Given the description of an element on the screen output the (x, y) to click on. 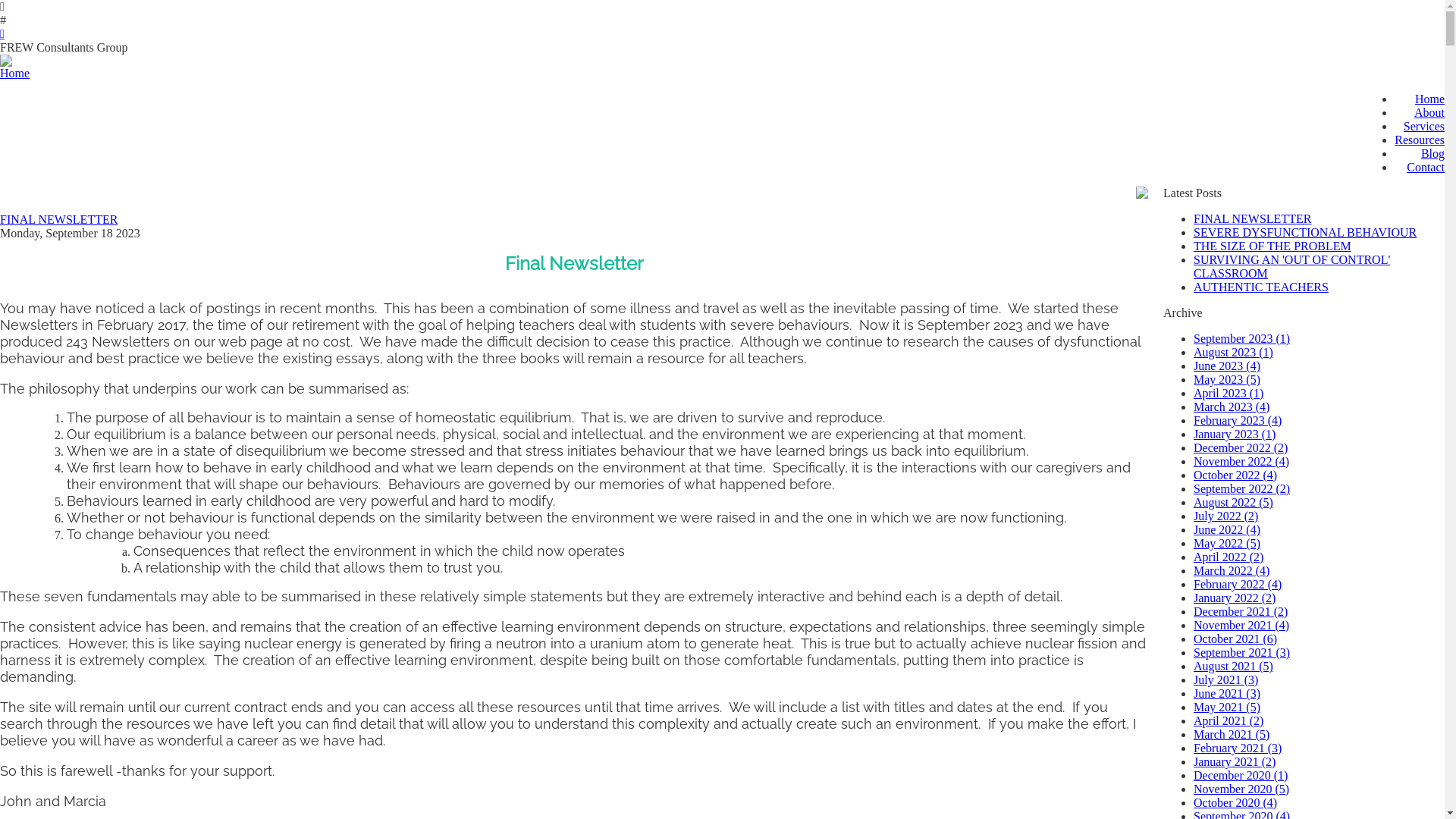
FINAL NEWSLETTER Element type: text (58, 219)
October 2021 (6) Element type: text (1235, 638)
AUTHENTIC TEACHERS Element type: text (1260, 286)
July 2021 (3) Element type: text (1225, 679)
FREW Consultants Group         Element type: text (722, 47)
March 2021 (5) Element type: text (1231, 734)
Contact Element type: text (1425, 166)
August 2022 (5) Element type: text (1233, 501)
SURVIVING AN 'OUT OF CONTROL' CLASSROOM Element type: text (1291, 266)
May 2023 (5) Element type: text (1226, 379)
January 2023 (1) Element type: text (1234, 433)
September 2022 (2) Element type: text (1241, 488)
November 2020 (5) Element type: text (1241, 788)
January 2022 (2) Element type: text (1234, 597)
August 2021 (5) Element type: text (1233, 665)
May 2021 (5) Element type: text (1226, 706)
October 2022 (4) Element type: text (1235, 474)
January 2021 (2) Element type: text (1234, 761)
Services Element type: text (1423, 125)
February 2022 (4) Element type: text (1237, 583)
About Element type: text (1429, 112)
December 2021 (2) Element type: text (1240, 611)
December 2020 (1) Element type: text (1240, 774)
THE SIZE OF THE PROBLEM Element type: text (1272, 245)
April 2022 (2) Element type: text (1228, 556)
July 2022 (2) Element type: text (1225, 515)
August 2023 (1) Element type: text (1233, 351)
June 2022 (4) Element type: text (1226, 529)
April 2023 (1) Element type: text (1228, 392)
March 2023 (4) Element type: text (1231, 406)
Home Element type: text (1429, 98)
March 2022 (4) Element type: text (1231, 570)
June 2021 (3) Element type: text (1226, 693)
November 2021 (4) Element type: text (1241, 624)
June 2023 (4) Element type: text (1226, 365)
September 2021 (3) Element type: text (1241, 652)
May 2022 (5) Element type: text (1226, 542)
October 2020 (4) Element type: text (1235, 802)
# Element type: text (722, 20)
Blog Element type: text (1432, 153)
FINAL NEWSLETTER Element type: text (1252, 218)
December 2022 (2) Element type: text (1240, 447)
Resources Element type: text (1419, 139)
September 2023 (1) Element type: text (1241, 338)
April 2021 (2) Element type: text (1228, 720)
February 2023 (4) Element type: text (1237, 420)
November 2022 (4) Element type: text (1241, 461)
February 2021 (3) Element type: text (1237, 747)
SEVERE DYSFUNCTIONAL BEHAVIOUR Element type: text (1304, 231)
